Given the description of an element on the screen output the (x, y) to click on. 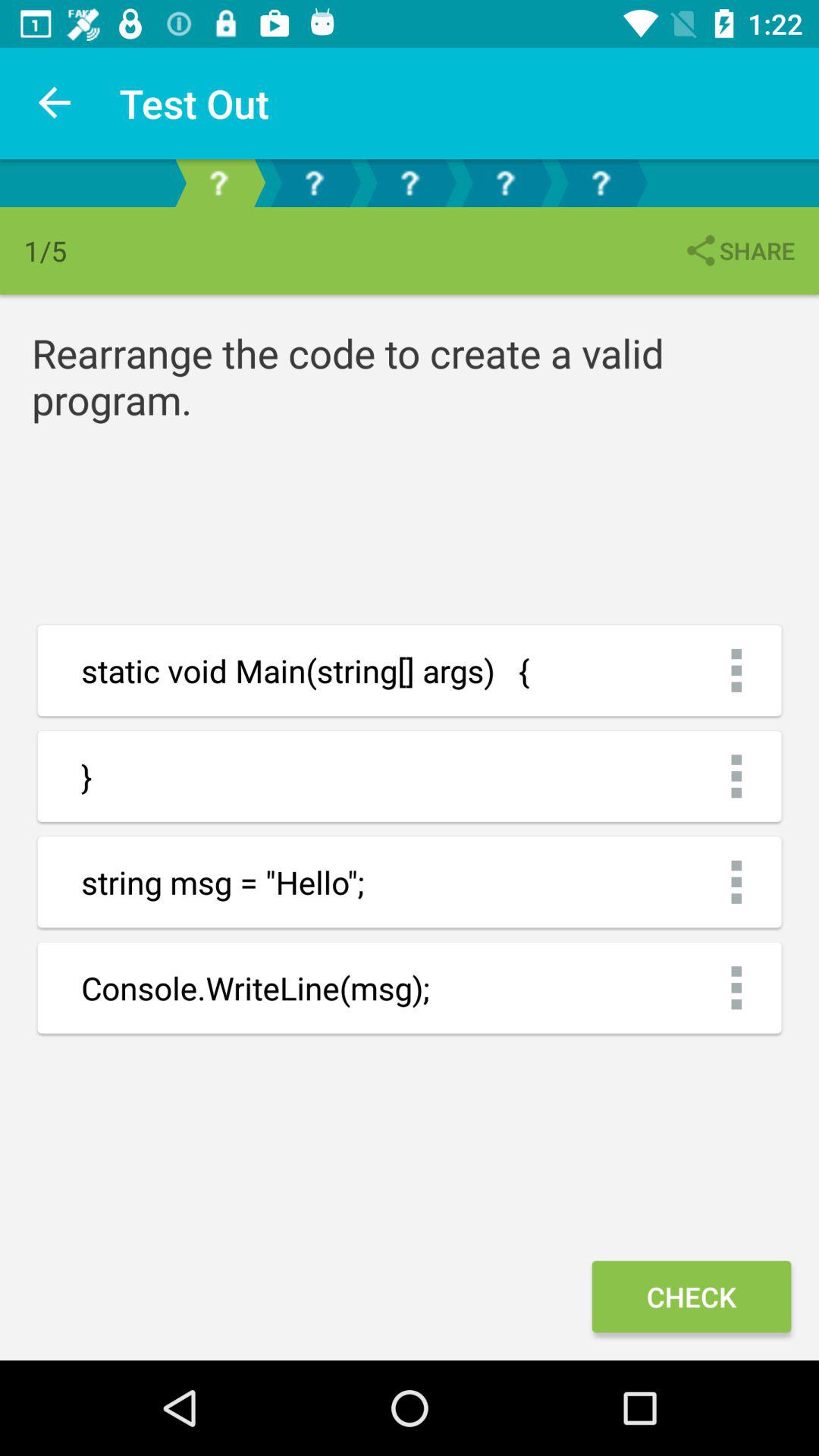
open question (504, 183)
